Given the description of an element on the screen output the (x, y) to click on. 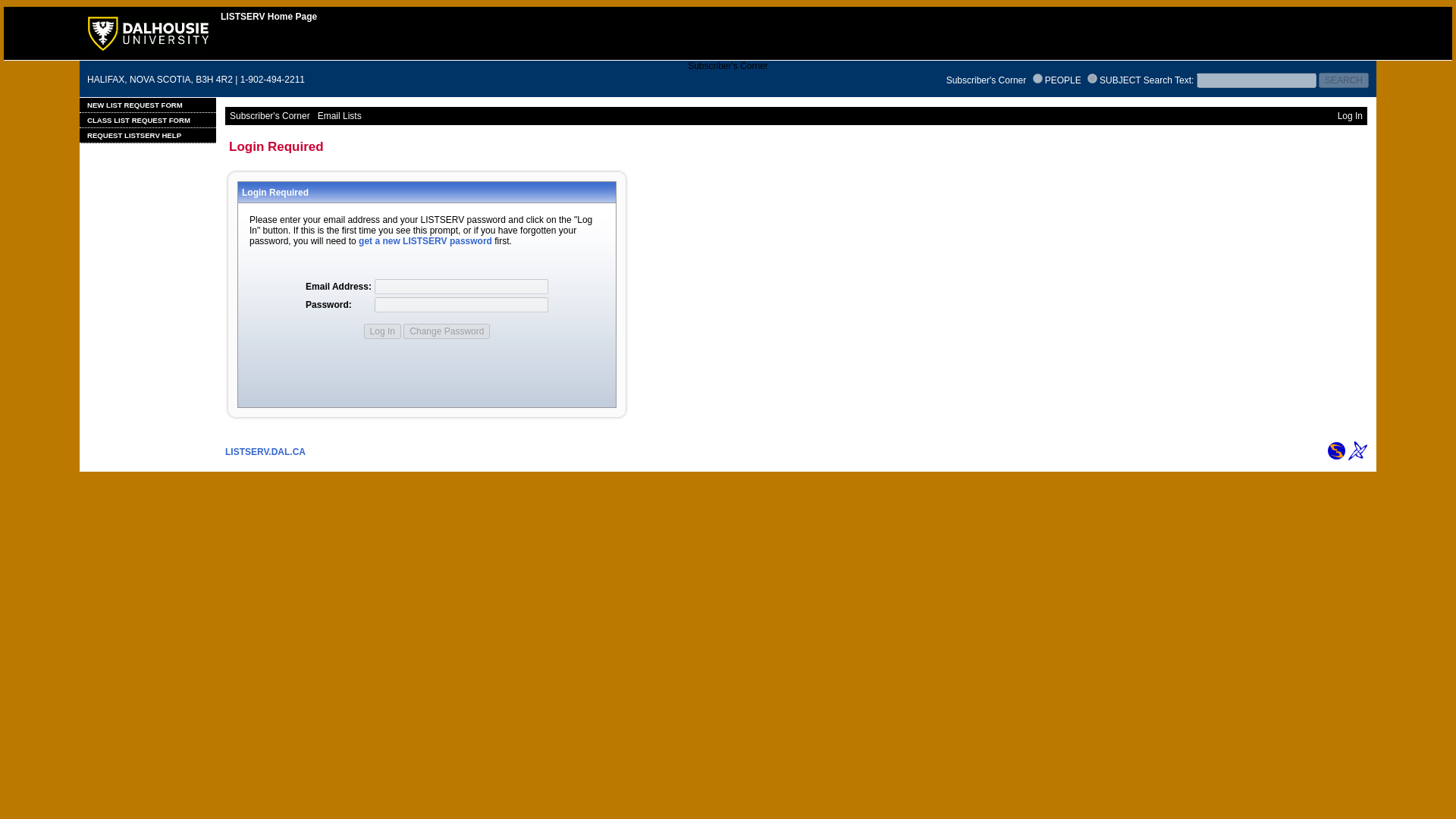
on (1037, 78)
Log In (382, 331)
SEARCH (1343, 79)
on (1092, 78)
Dalhousie University (147, 47)
CLASS LIST REQUEST FORM (147, 120)
Powered by the LISTSERV Email List Manager (1357, 450)
Change Password (446, 331)
get a new LISTSERV password (425, 240)
REQUEST LISTSERV HELP (147, 135)
